Given the description of an element on the screen output the (x, y) to click on. 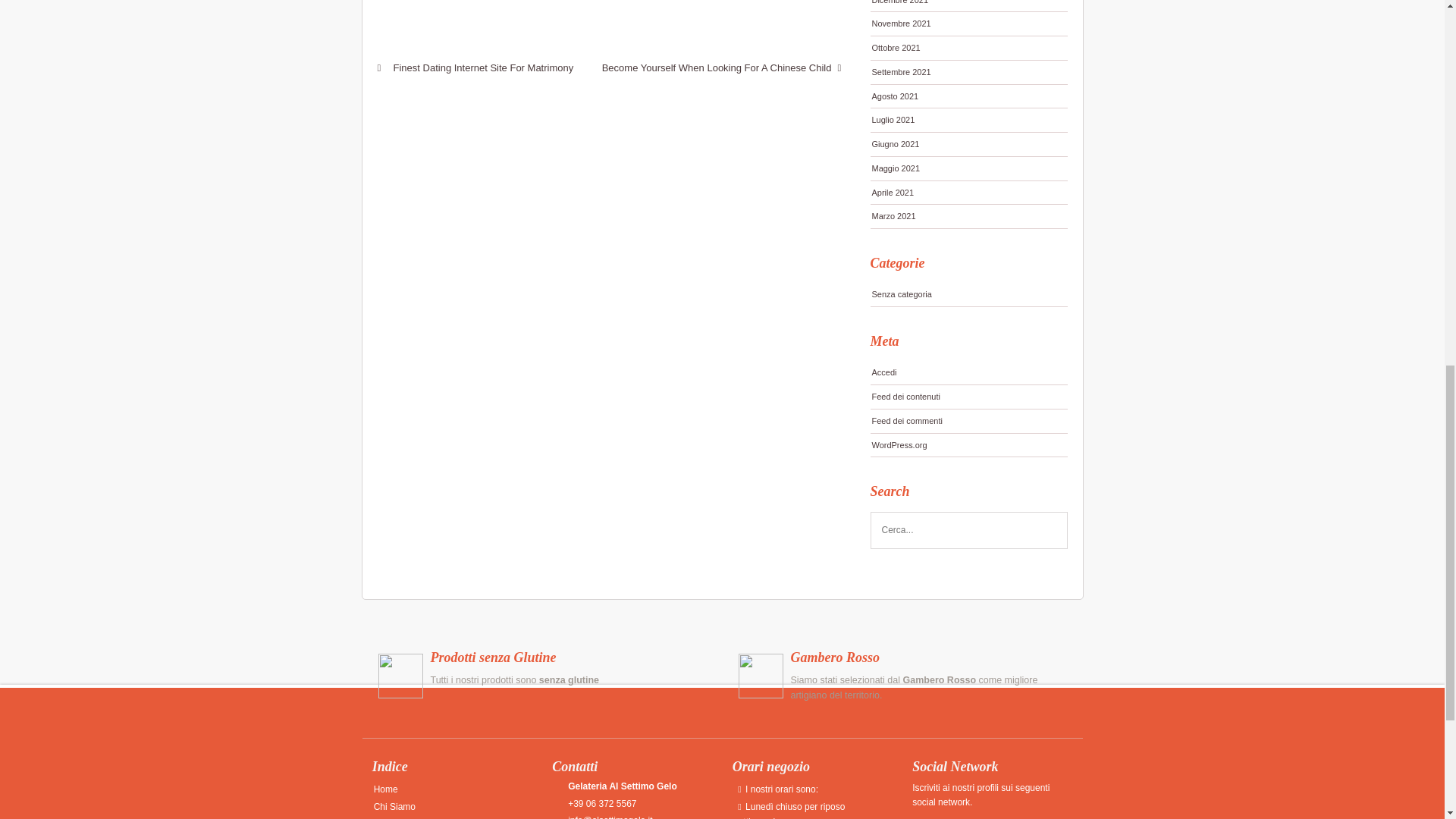
Cerca (1049, 531)
Cerca (1049, 531)
Finest Dating Internet Site For Matrimony (475, 67)
Become Yourself When Looking For A Chinese Child (724, 67)
